Given the description of an element on the screen output the (x, y) to click on. 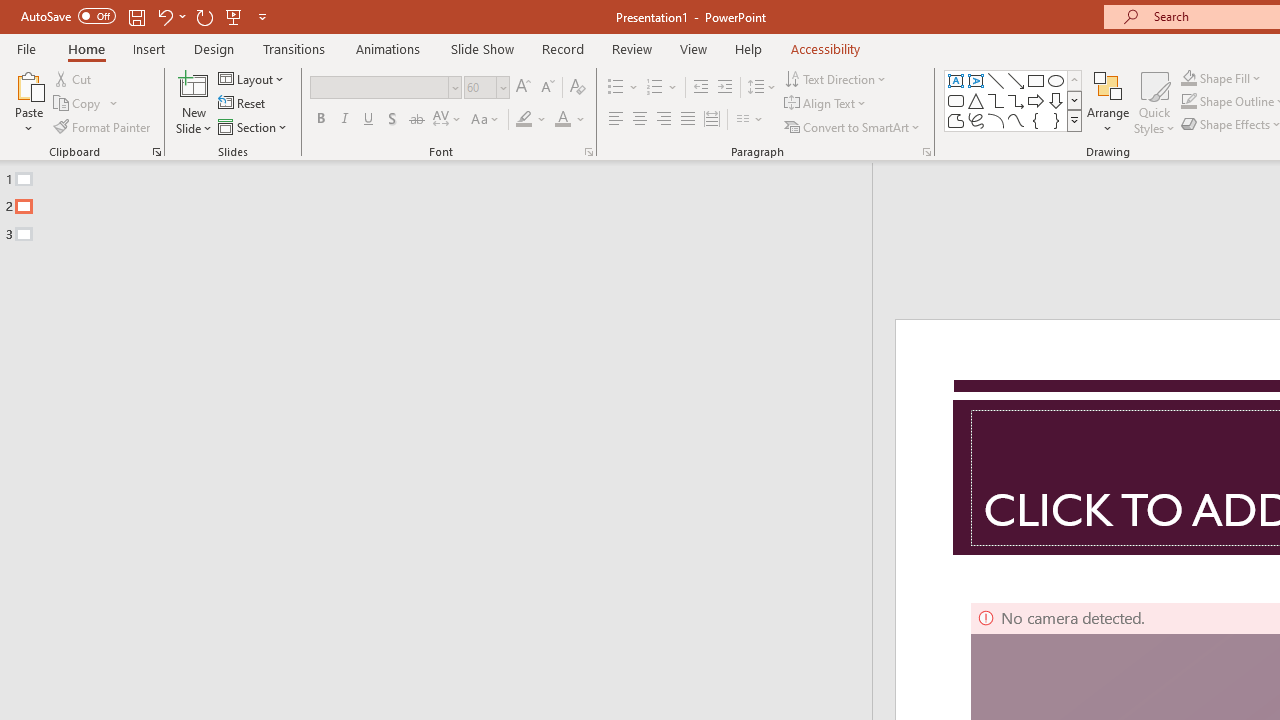
Shape Outline Blue, Accent 1 (1188, 101)
Bullets (616, 87)
Strikethrough (416, 119)
Quick Styles (1154, 102)
AutoSave (68, 16)
Character Spacing (447, 119)
Help (748, 48)
Increase Font Size (522, 87)
Left Brace (1035, 120)
Align Right (663, 119)
Layout (252, 78)
View (693, 48)
Font Size (480, 87)
Row Down (1074, 100)
